Given the description of an element on the screen output the (x, y) to click on. 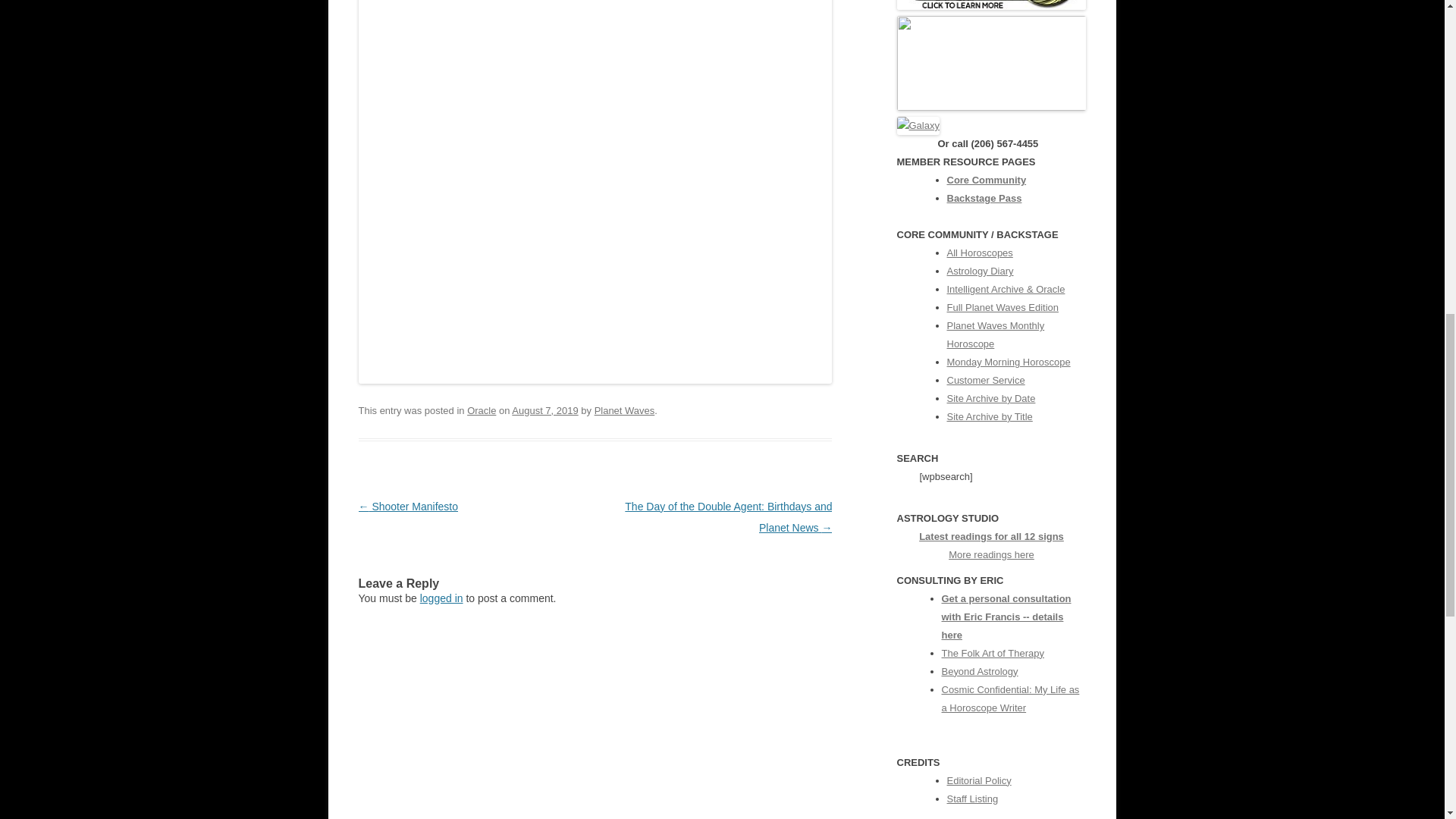
logged in (441, 598)
12:00 am (545, 410)
View all posts by Planet Waves (624, 410)
Planet Waves (624, 410)
Oracle (481, 410)
August 7, 2019 (545, 410)
